Given the description of an element on the screen output the (x, y) to click on. 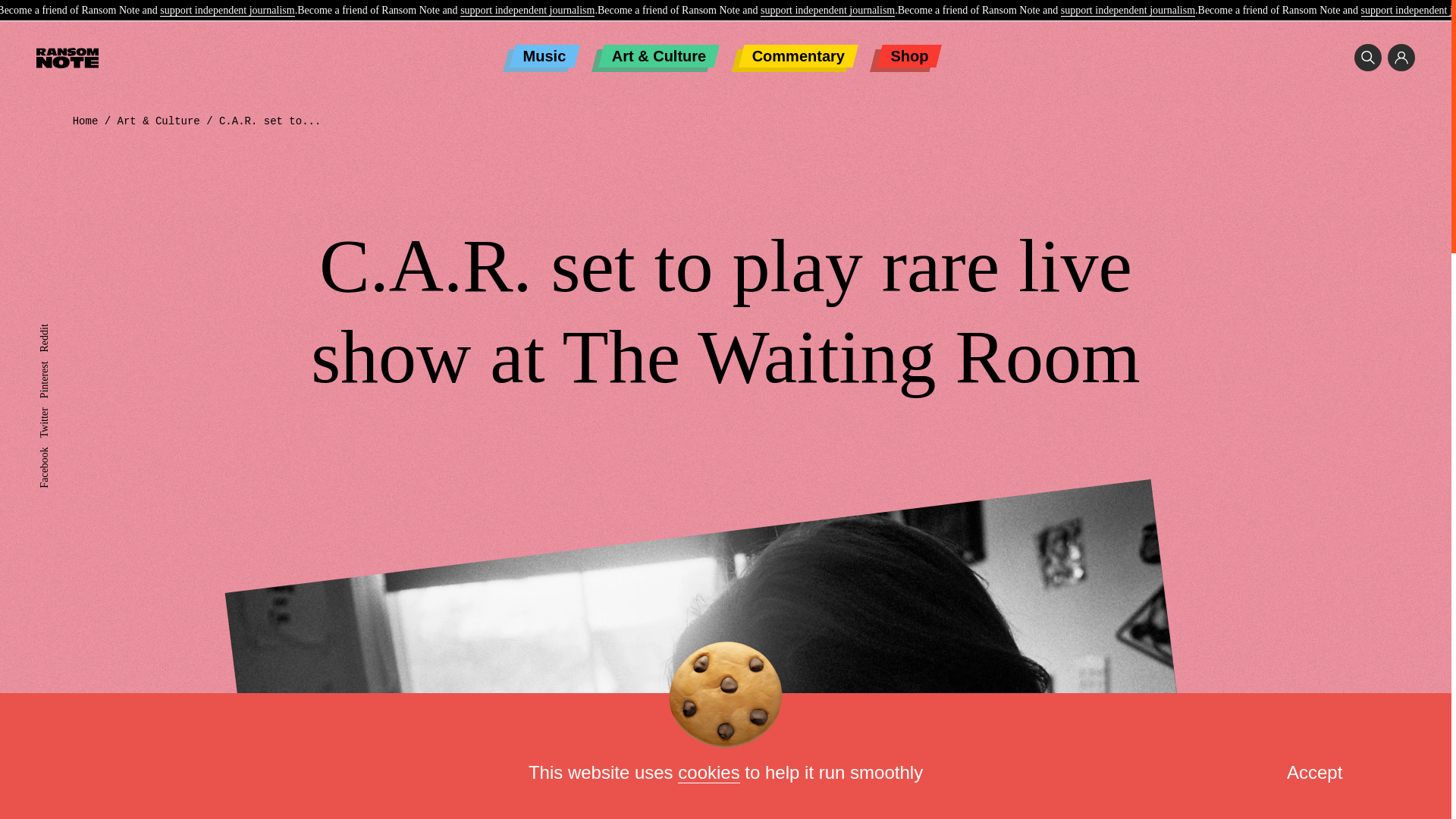
Home (85, 121)
support independent journalism (227, 10)
support independent journalism (527, 10)
Facebook (59, 452)
Music (544, 56)
Twitter (53, 413)
Reddit (52, 329)
support independent journalism (827, 10)
Pinterest (57, 367)
Shop (909, 56)
support independent journalism (1128, 10)
Commentary (798, 56)
